Given the description of an element on the screen output the (x, y) to click on. 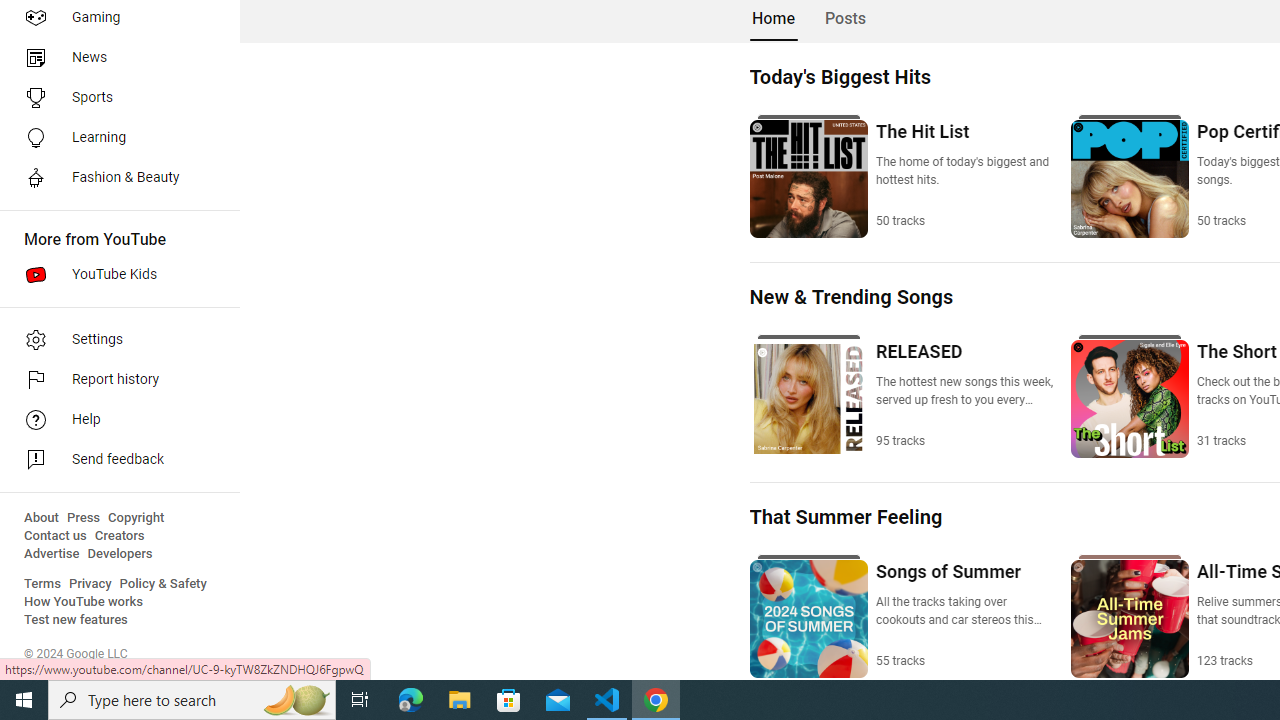
Privacy (89, 584)
Learning (113, 137)
Copyright (136, 518)
Fashion & Beauty (113, 177)
Help (113, 419)
Policy & Safety (163, 584)
Press (83, 518)
YouTube Kids (113, 274)
Developers (120, 554)
Creators (118, 536)
Report history (113, 380)
Today's Biggest Hits (839, 76)
Test new features (76, 620)
